Given the description of an element on the screen output the (x, y) to click on. 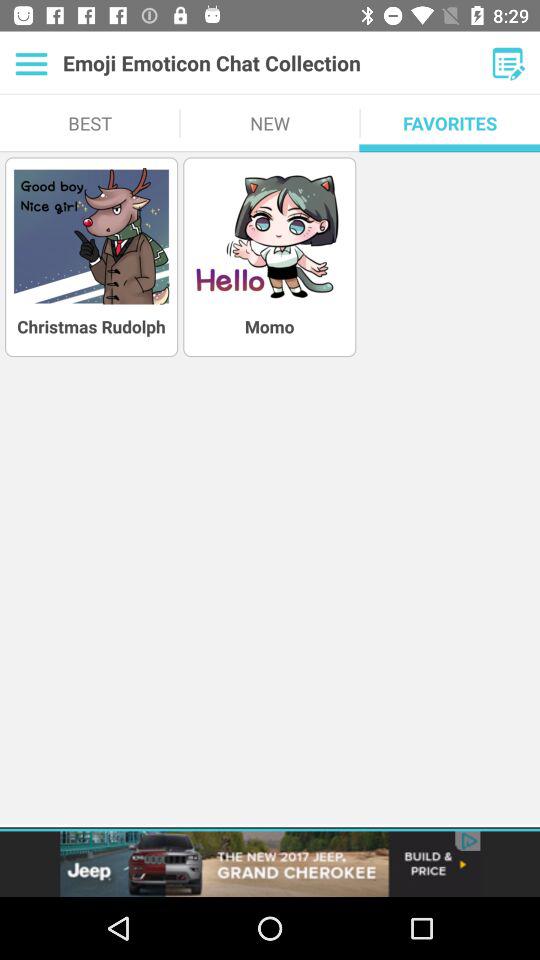
select edit option (508, 63)
